Given the description of an element on the screen output the (x, y) to click on. 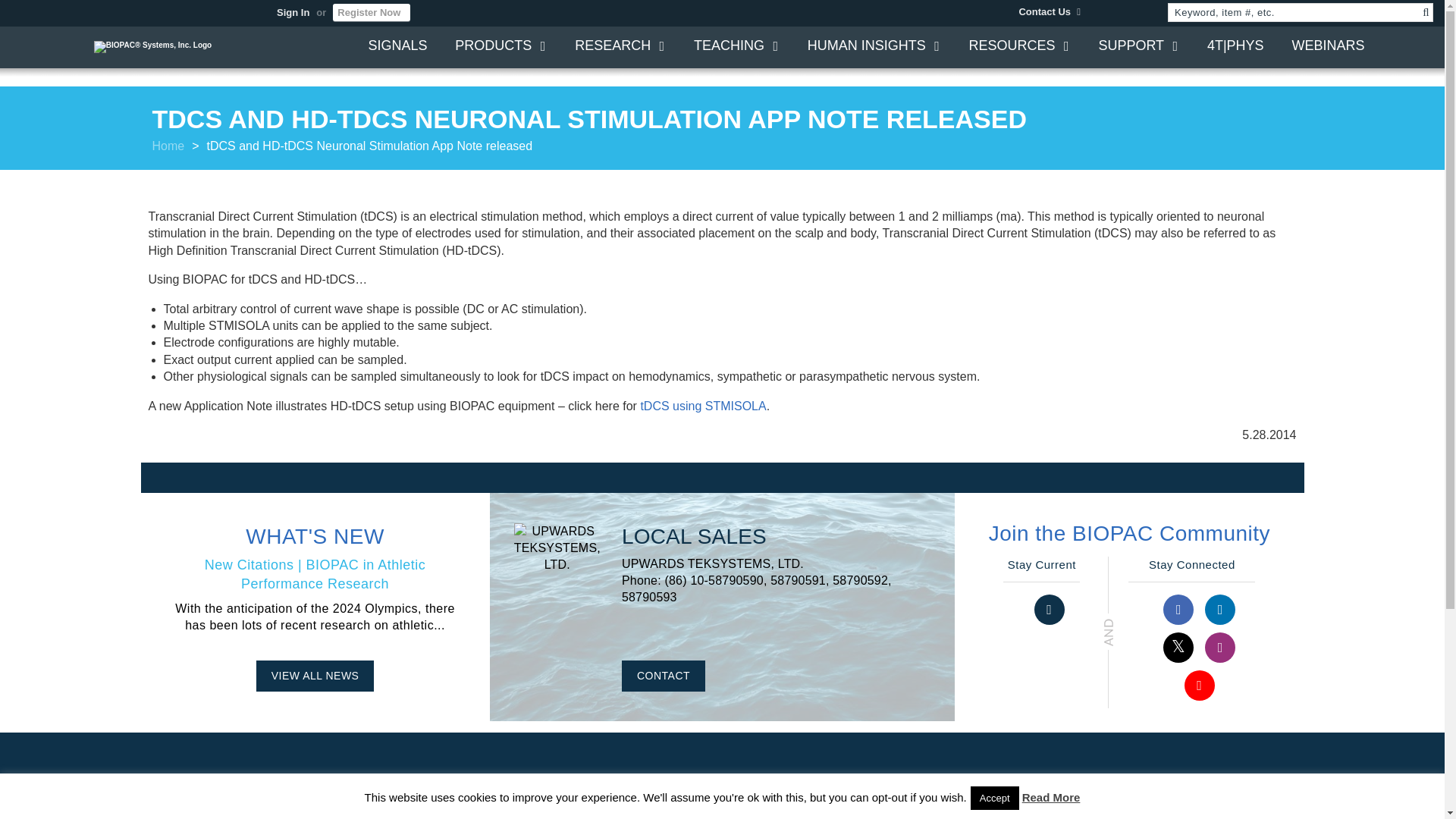
SIGNALS (398, 49)
Sign In (292, 12)
Understand reactions and decision-making (874, 49)
Research Systems to Measure Physiology (620, 49)
Contact Us (1049, 11)
RESEARCH (620, 49)
Register Now (371, 12)
PRODUCTS (500, 49)
